Given the description of an element on the screen output the (x, y) to click on. 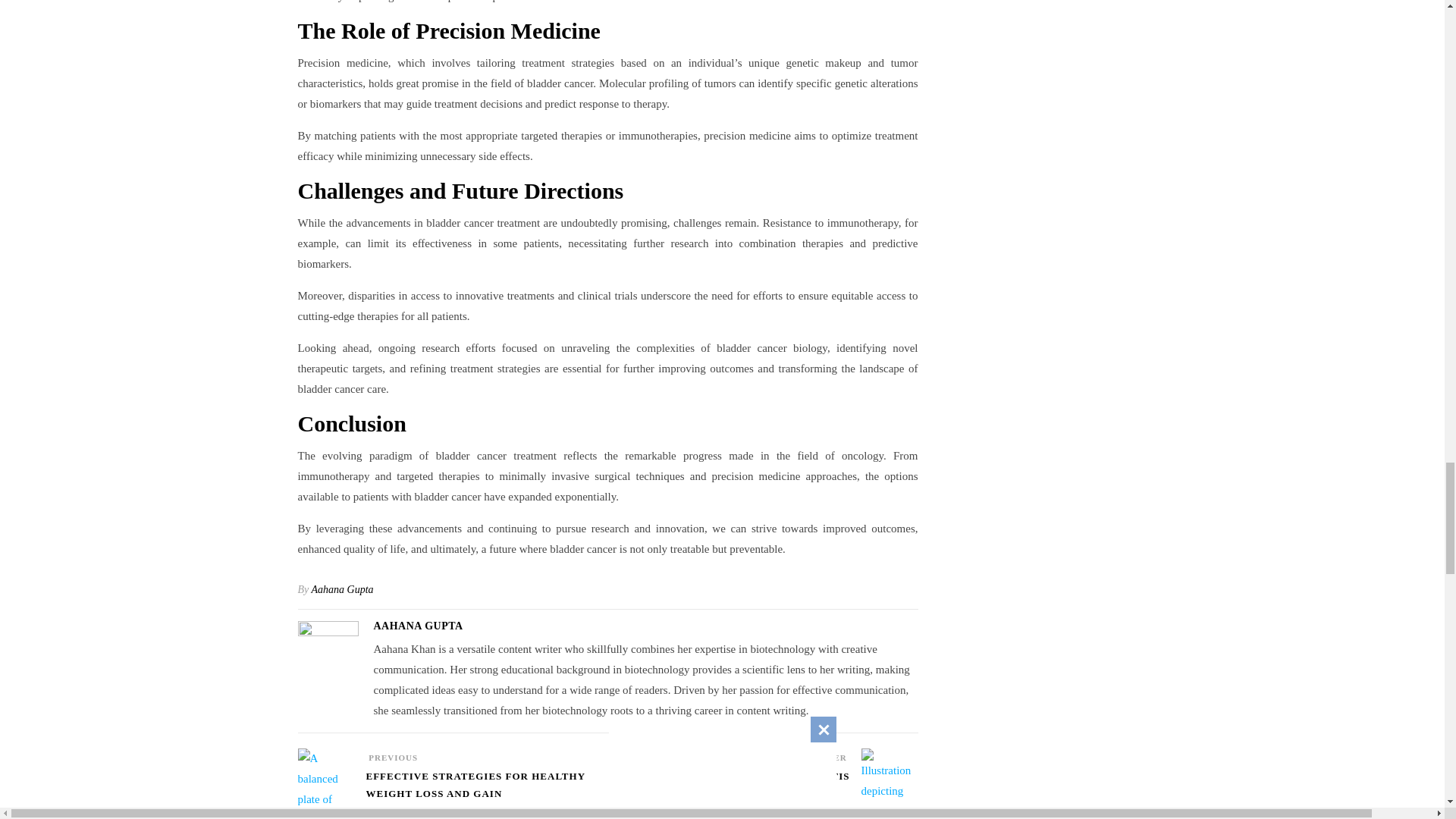
What Food Can Cause Appendicitis (729, 783)
Posts by Aahana Gupta (342, 589)
Effective Strategies for Healthy Weight Loss and Gain (486, 792)
Posts by Aahana Gupta (417, 625)
